Given the description of an element on the screen output the (x, y) to click on. 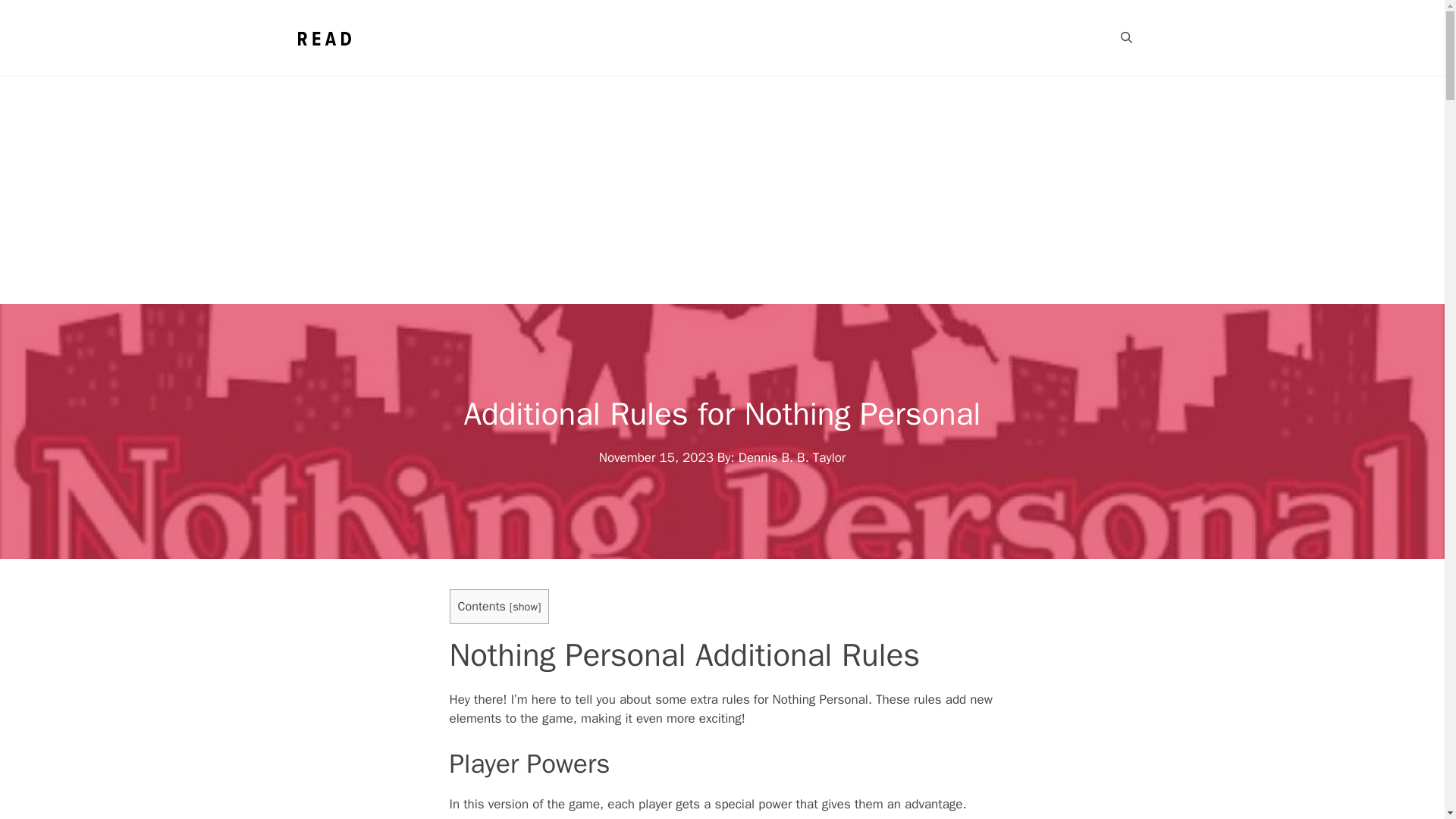
show (524, 606)
